Given the description of an element on the screen output the (x, y) to click on. 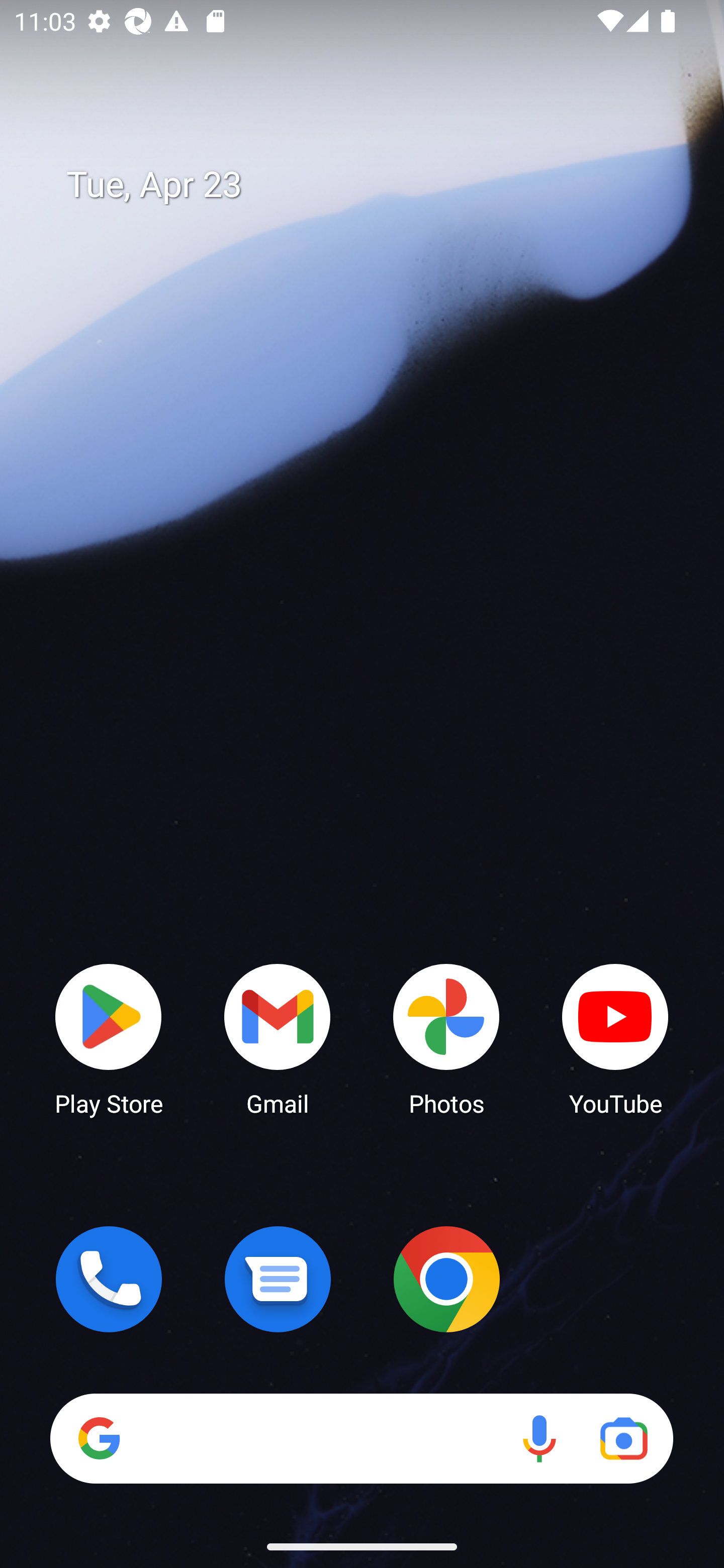
Tue, Apr 23 (375, 184)
Play Store (108, 1038)
Gmail (277, 1038)
Photos (445, 1038)
YouTube (615, 1038)
Phone (108, 1279)
Messages (277, 1279)
Chrome (446, 1279)
Search Voice search Google Lens (361, 1438)
Voice search (539, 1438)
Google Lens (623, 1438)
